Given the description of an element on the screen output the (x, y) to click on. 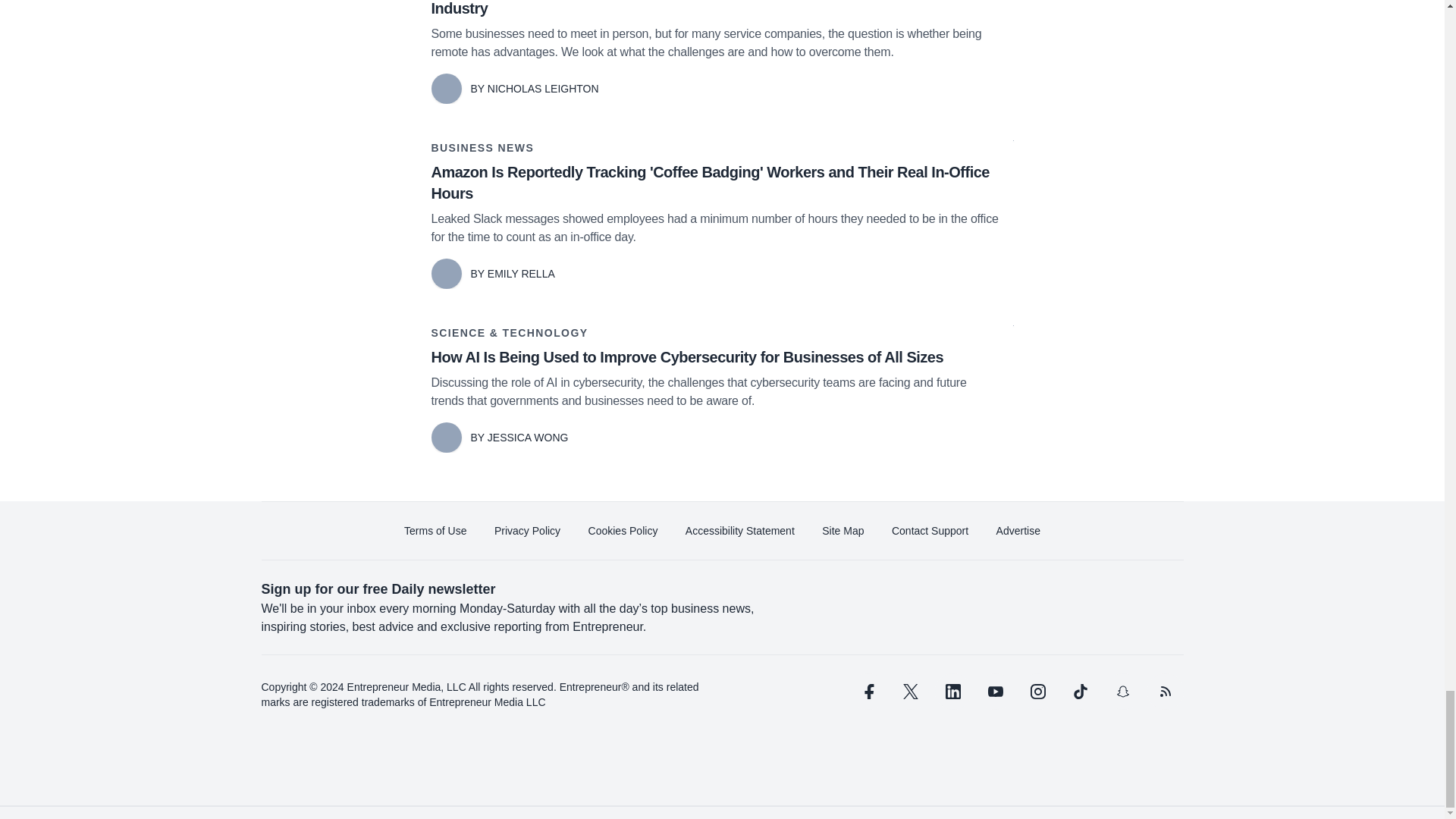
instagram (1037, 691)
linkedin (952, 691)
facebook (866, 691)
tiktok (1079, 691)
twitter (909, 691)
snapchat (1121, 691)
youtube (994, 691)
